Given the description of an element on the screen output the (x, y) to click on. 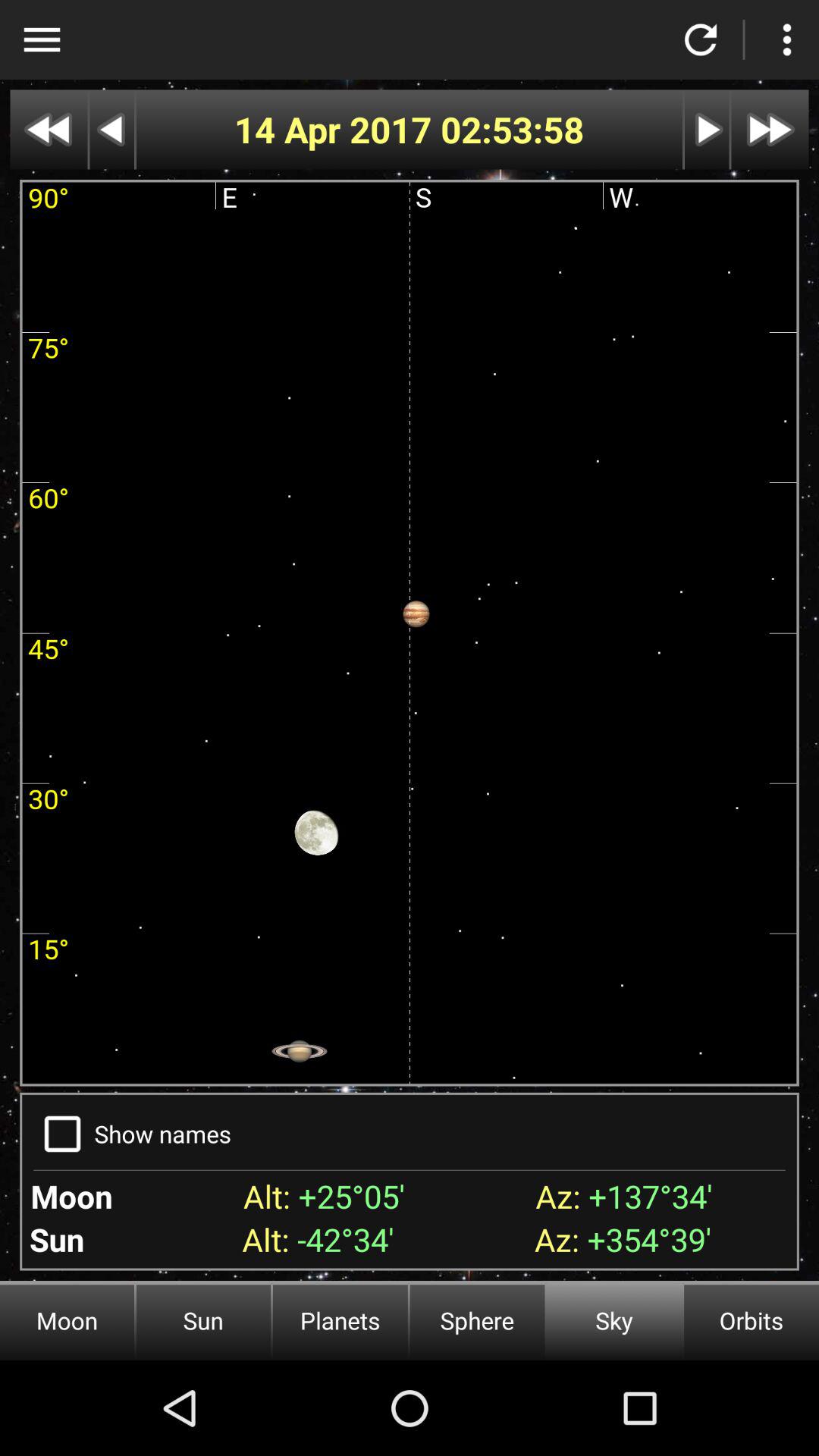
turn off the app next to show names (62, 1133)
